Given the description of an element on the screen output the (x, y) to click on. 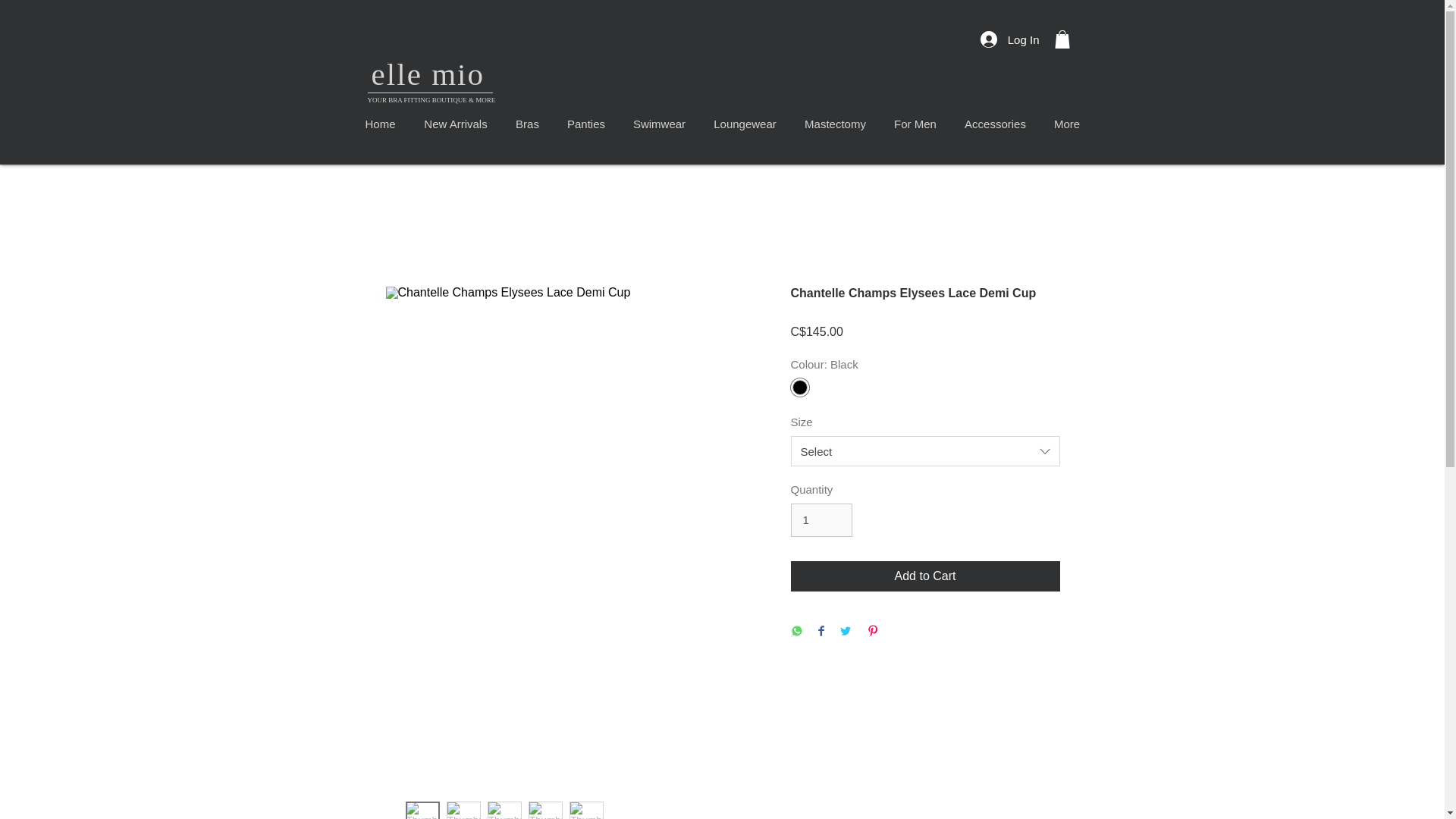
1 (820, 520)
Log In (1009, 39)
elle mio (427, 73)
Swimwear (658, 123)
Loungewear (744, 123)
Add to Cart (924, 576)
Mastectomy (834, 123)
Select (924, 450)
New Arrivals (454, 123)
Accessories (995, 123)
